Given the description of an element on the screen output the (x, y) to click on. 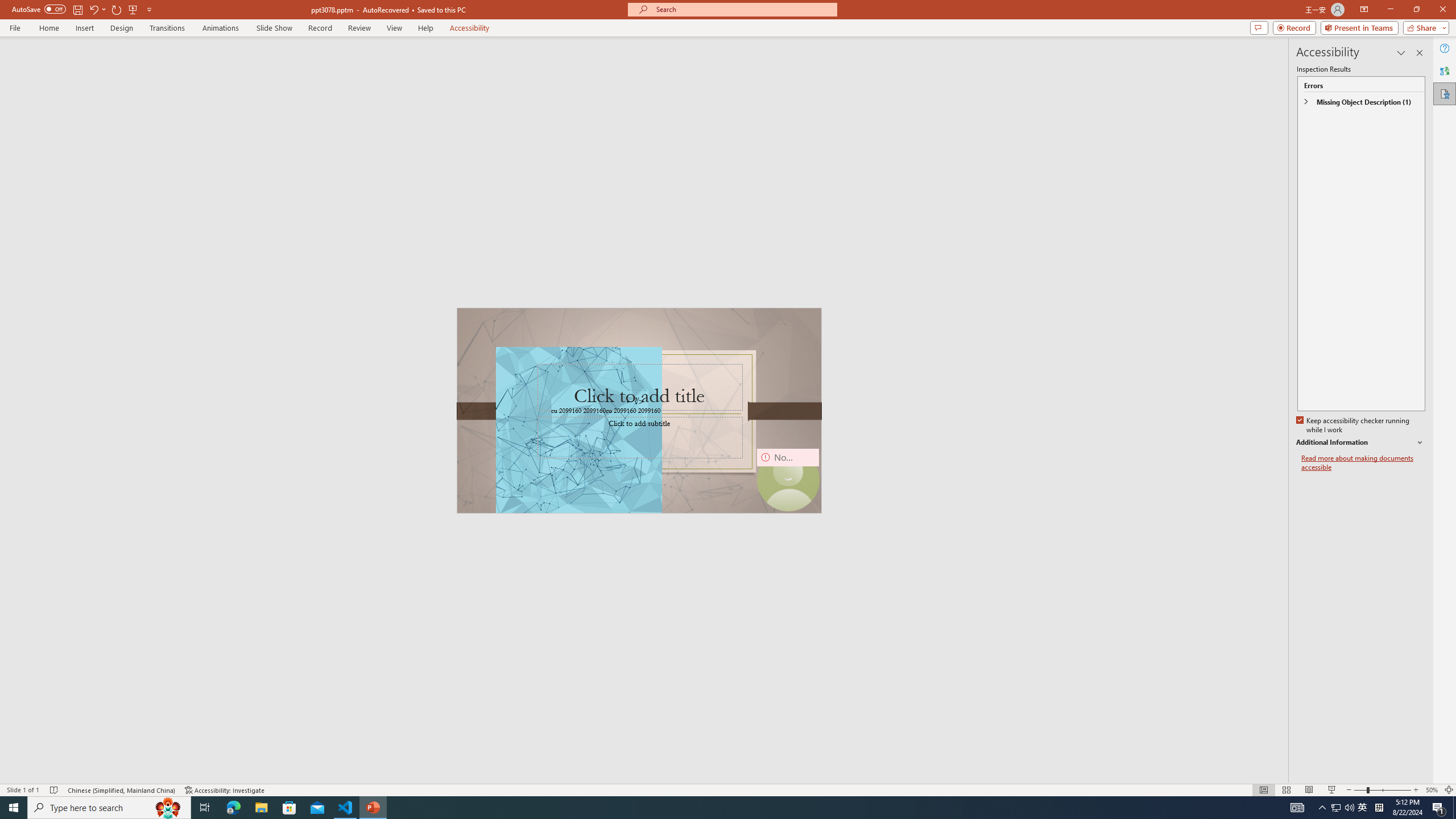
TextBox 61 (638, 411)
